Given the description of an element on the screen output the (x, y) to click on. 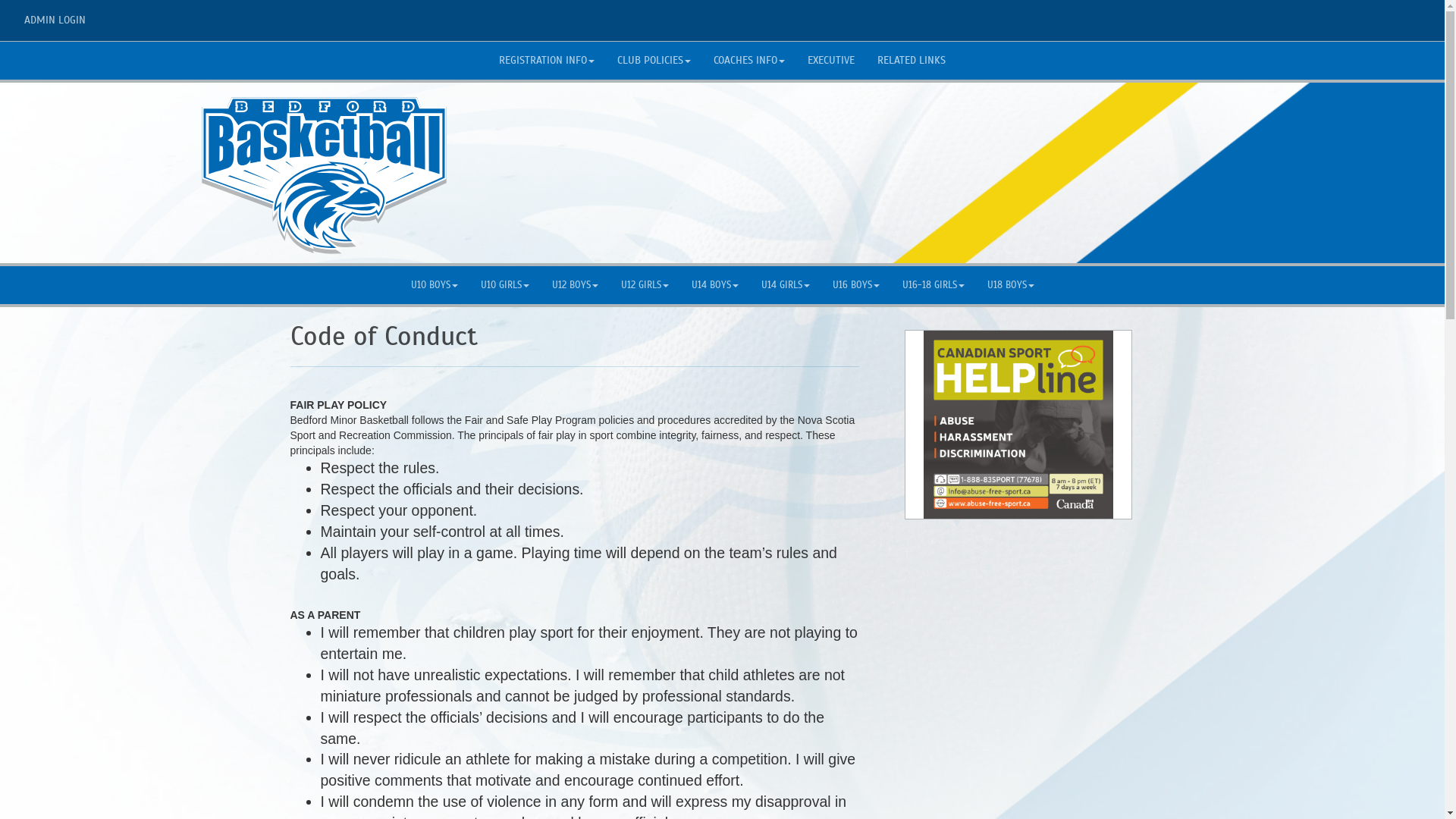
U12 BOYS Element type: text (573, 285)
U16 BOYS Element type: text (855, 285)
U12 GIRLS Element type: text (644, 285)
Twitter Element type: text (1411, 15)
U18 BOYS Element type: text (1009, 285)
U14 GIRLS Element type: text (784, 285)
CLUB POLICIES Element type: text (653, 60)
U10 BOYS Element type: text (433, 285)
REGISTRATION INFO Element type: text (546, 60)
RELATED LINKS Element type: text (911, 60)
U14 BOYS Element type: text (714, 285)
LOGIN PAGE
 ADMIN LOGIN
ADMIN LOGIN Element type: text (53, 20)
Facebook Element type: text (1389, 15)
U16-18 GIRLS Element type: text (932, 285)
U10 GIRLS Element type: text (503, 285)
EXECUTIVE Element type: text (831, 60)
COACHES INFO Element type: text (749, 60)
